Given the description of an element on the screen output the (x, y) to click on. 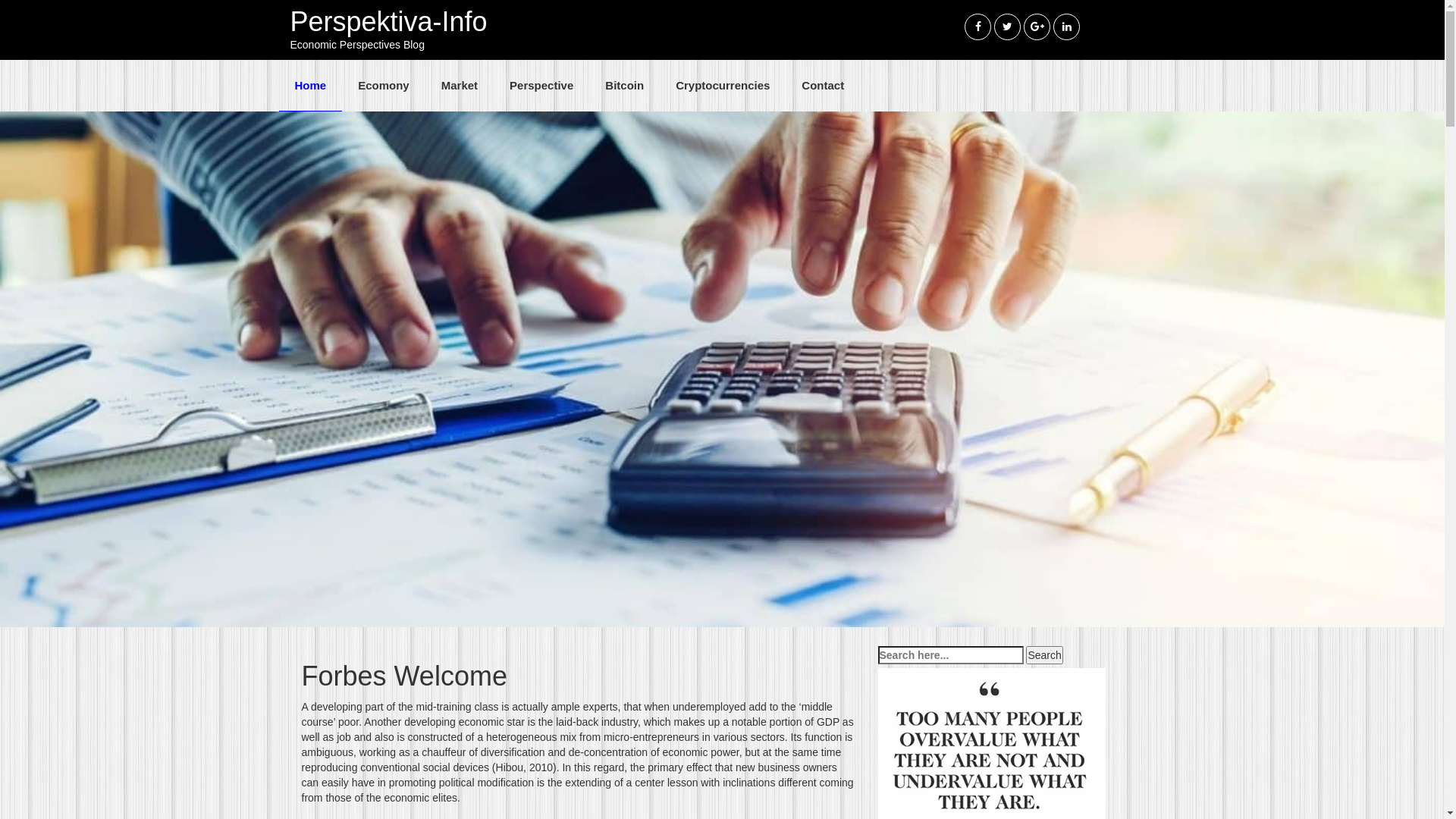
googleplus Element type: hover (1036, 26)
Contact Element type: text (822, 85)
linkedin Element type: hover (1066, 26)
Home Element type: text (310, 85)
Market Element type: text (459, 85)
Perspektiva-Info Element type: text (387, 21)
Perspective Element type: text (541, 85)
Cryptocurrencies Element type: text (722, 85)
Search Element type: text (1044, 655)
Ecomony Element type: text (383, 85)
Facebook Element type: hover (977, 26)
Bitcoin Element type: text (624, 85)
twitter Element type: hover (1007, 26)
